Given the description of an element on the screen output the (x, y) to click on. 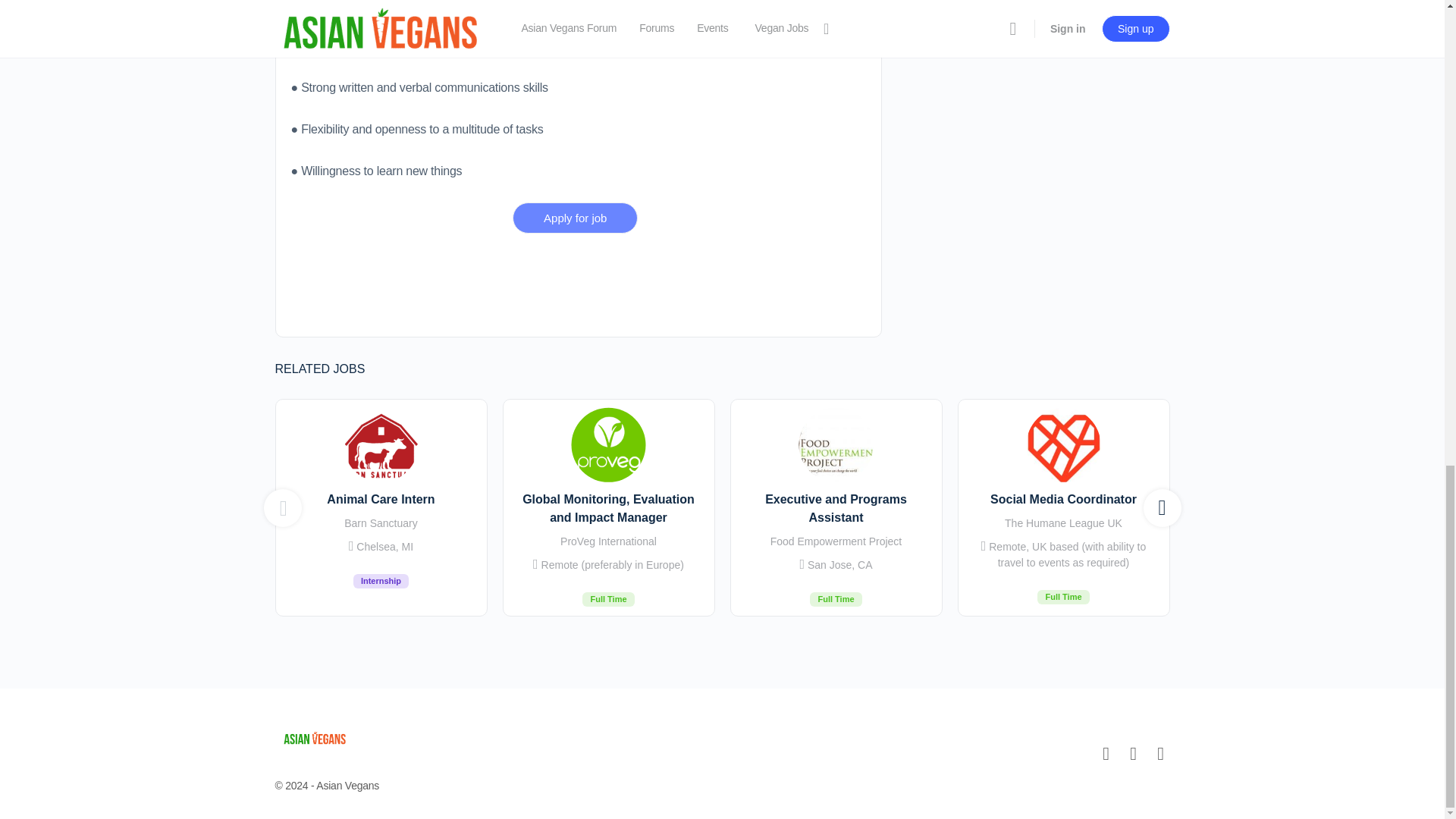
Apply for job (381, 507)
